Given the description of an element on the screen output the (x, y) to click on. 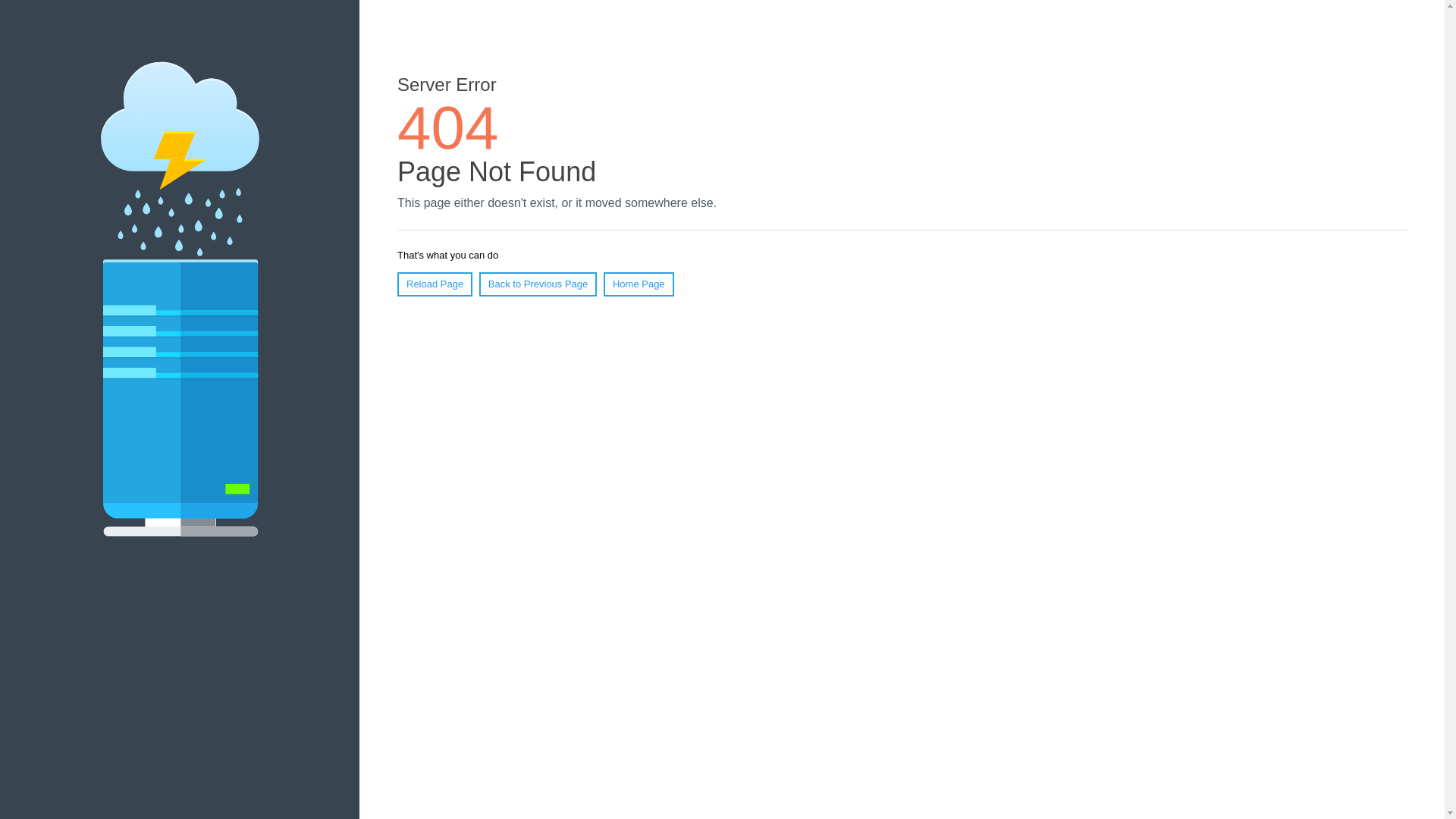
Home Page Element type: text (638, 284)
Reload Page Element type: text (434, 284)
Back to Previous Page Element type: text (538, 284)
